Given the description of an element on the screen output the (x, y) to click on. 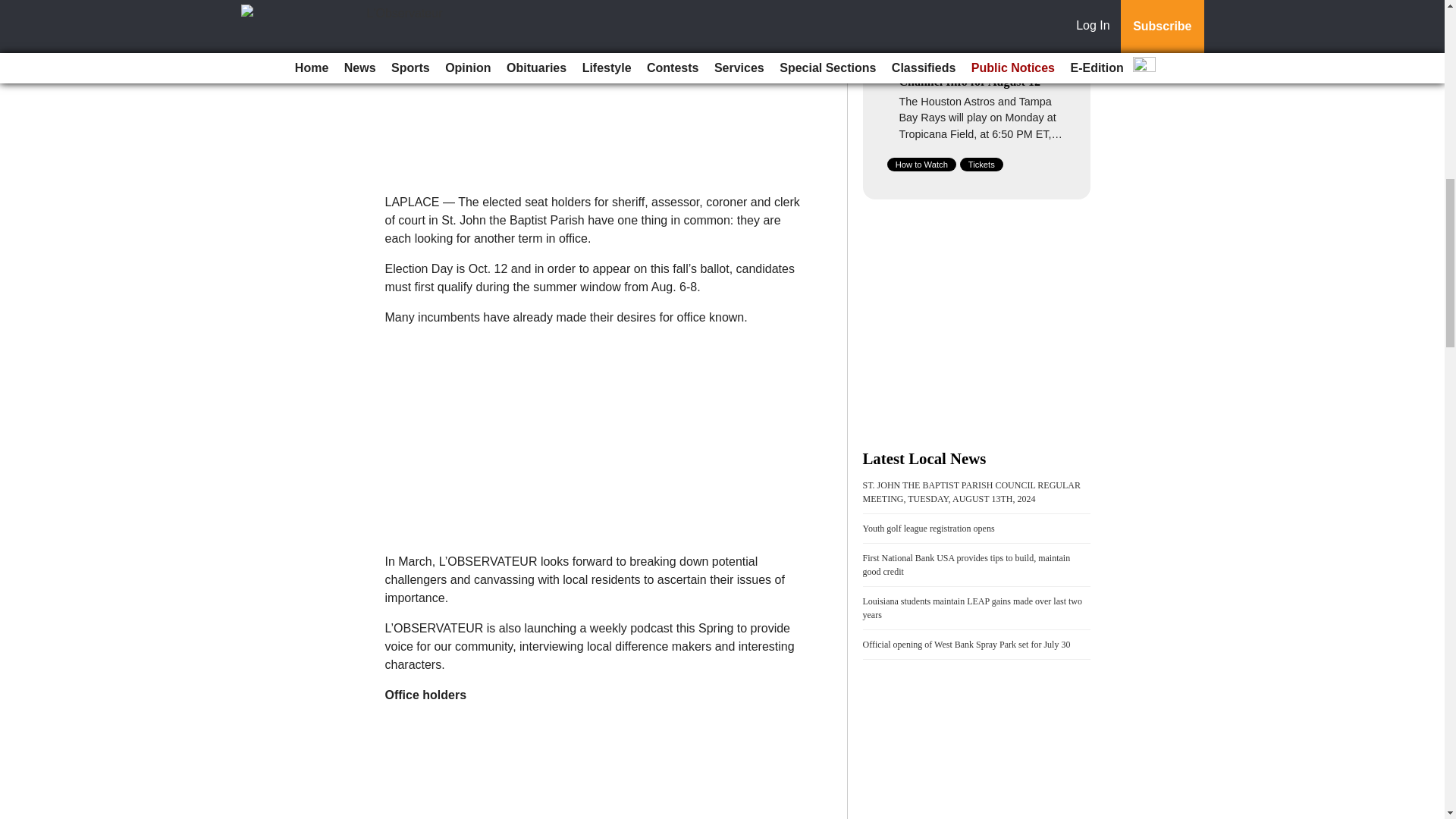
Youth golf league registration opens (928, 528)
Official opening of West Bank Spray Park set for July 30 (966, 644)
How to Watch (921, 164)
Tickets (981, 164)
